Given the description of an element on the screen output the (x, y) to click on. 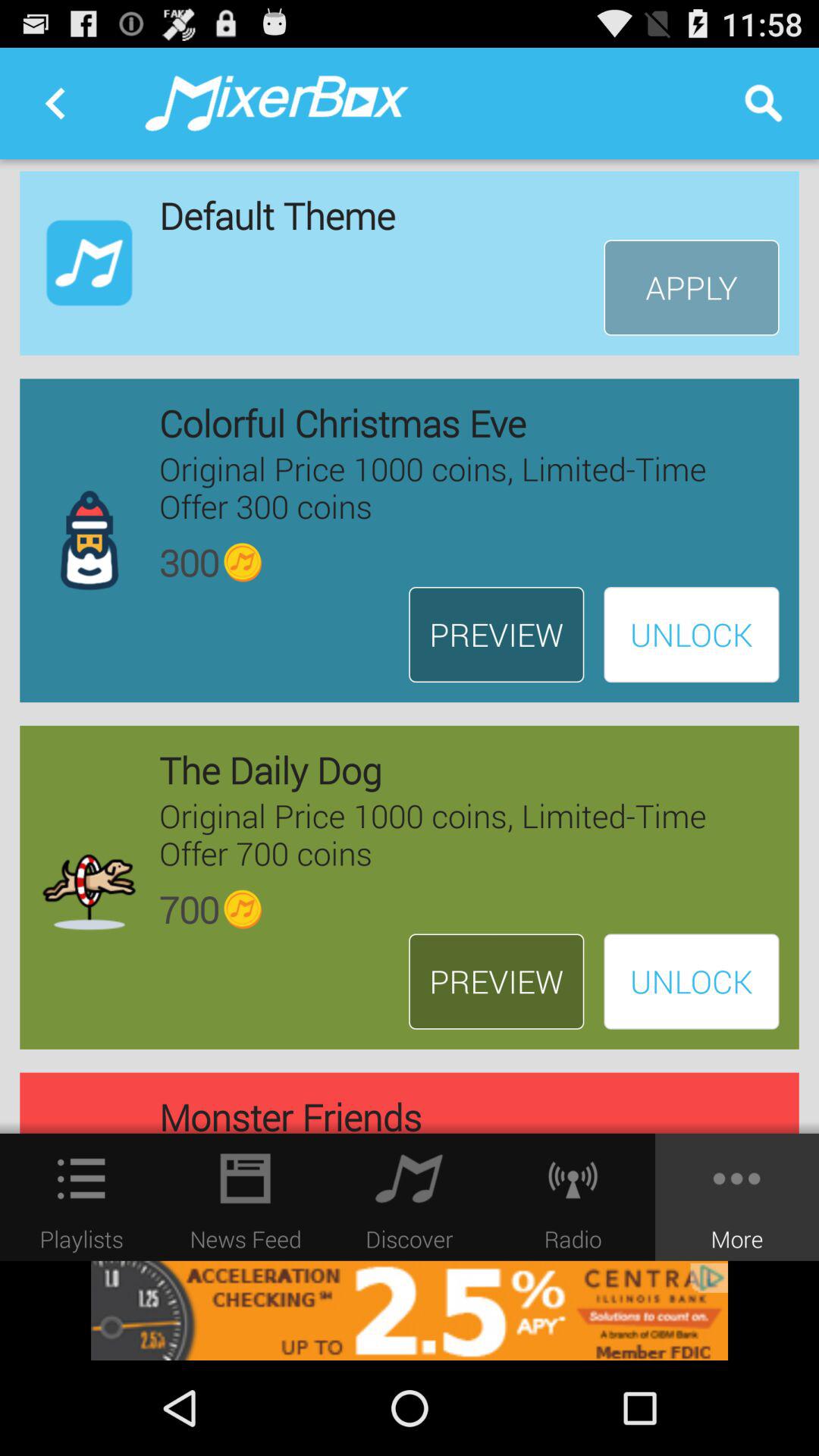
2.5 annual percentage rate (409, 1310)
